Given the description of an element on the screen output the (x, y) to click on. 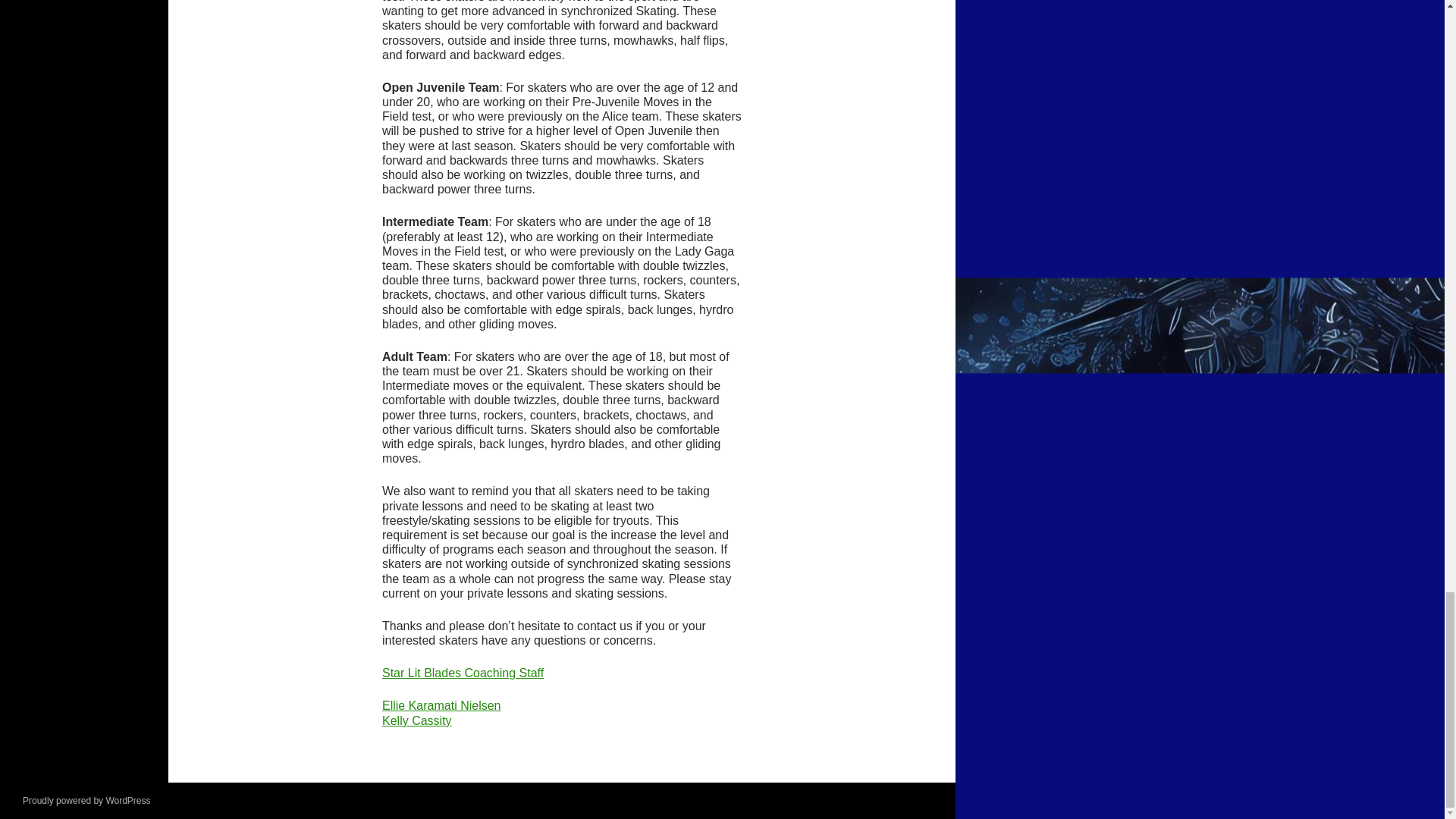
Kelly Cassity (416, 720)
Star Lit Blades Coaching Staff (462, 672)
Ellie Karamati Nielsen (440, 705)
